Given the description of an element on the screen output the (x, y) to click on. 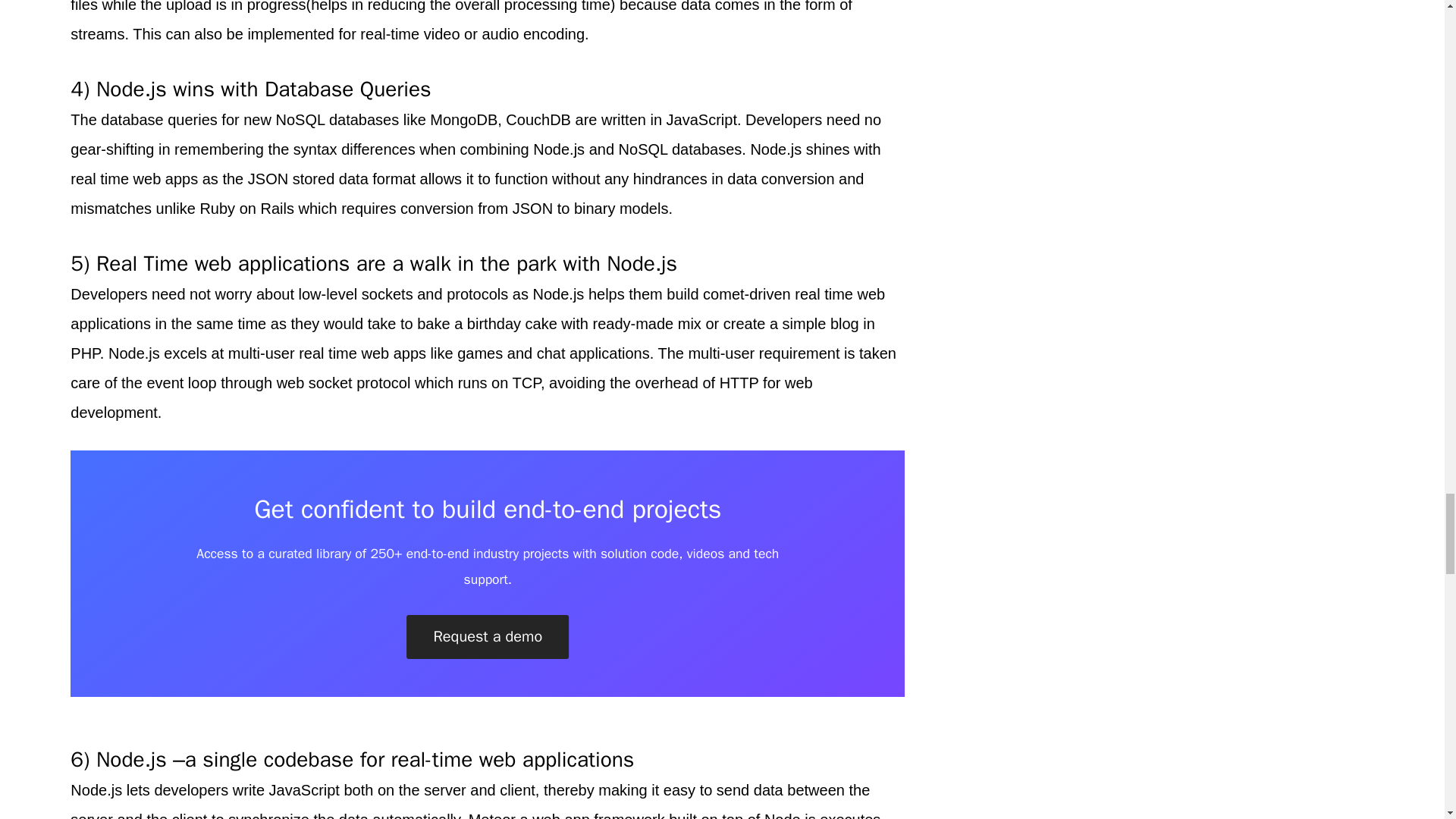
Request a demo (487, 637)
